Given the description of an element on the screen output the (x, y) to click on. 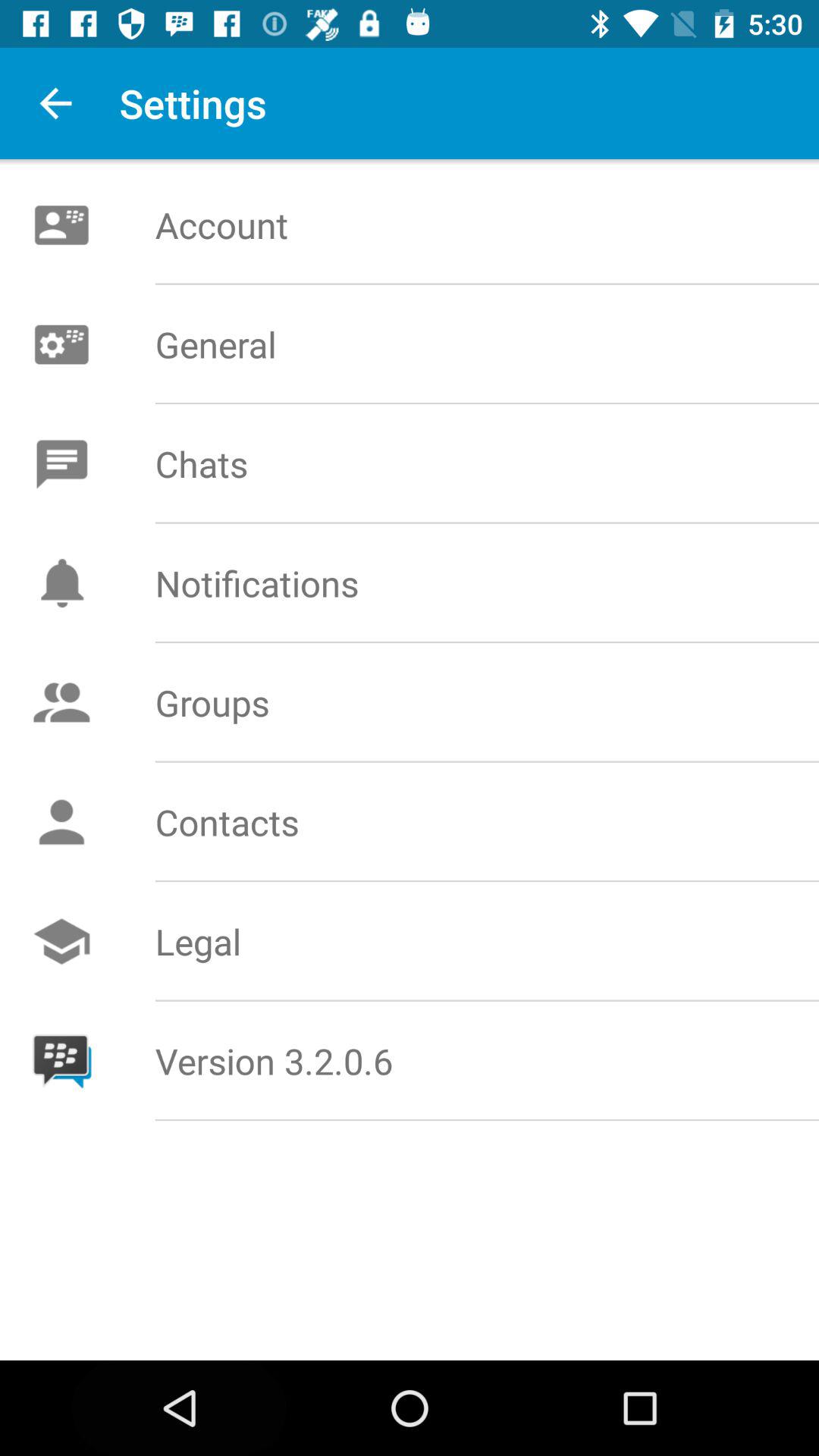
launch icon to the left of settings app (55, 103)
